Given the description of an element on the screen output the (x, y) to click on. 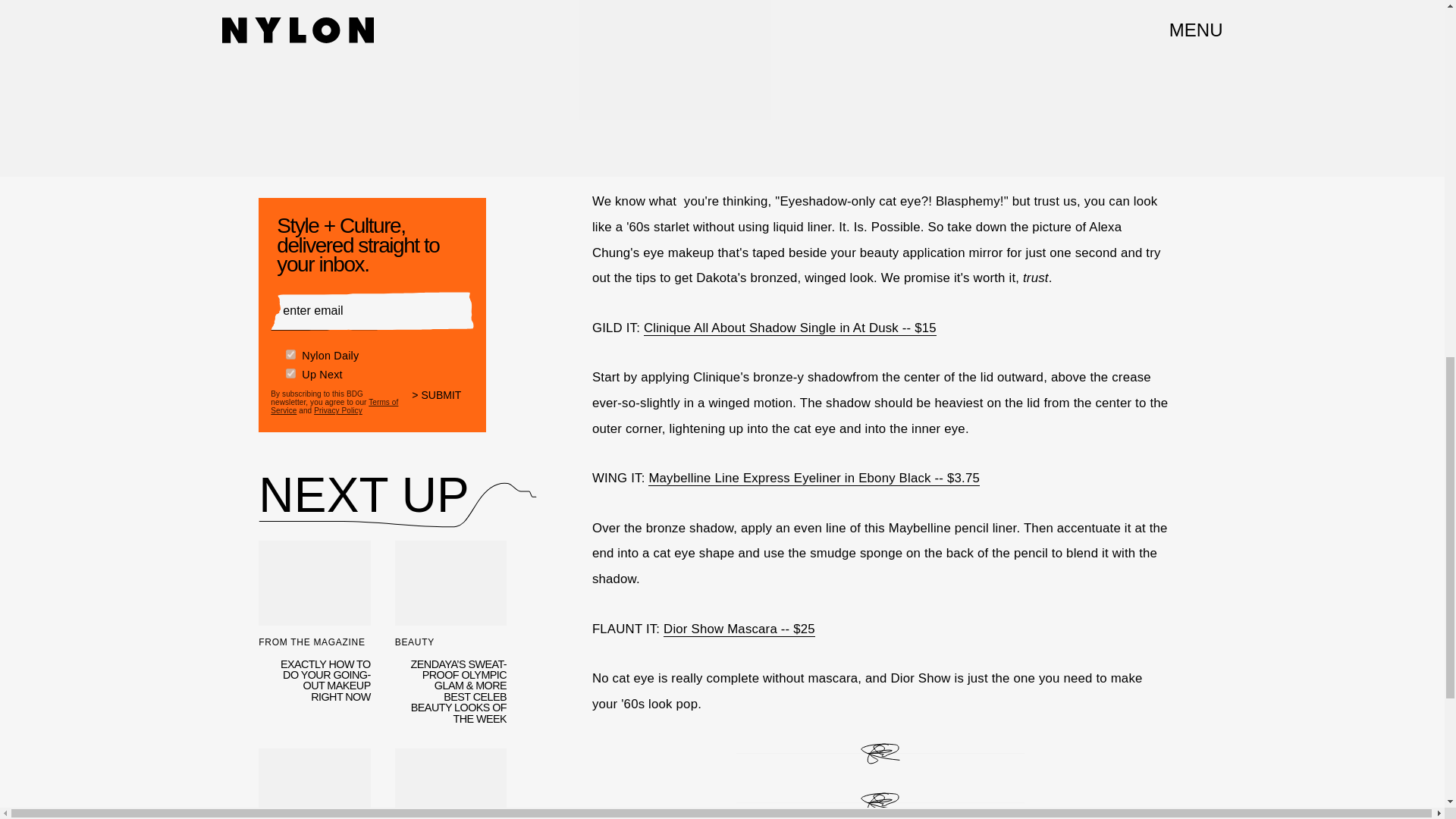
Terms of Service (333, 406)
Privacy Policy (338, 410)
SUBMIT (443, 404)
